Given the description of an element on the screen output the (x, y) to click on. 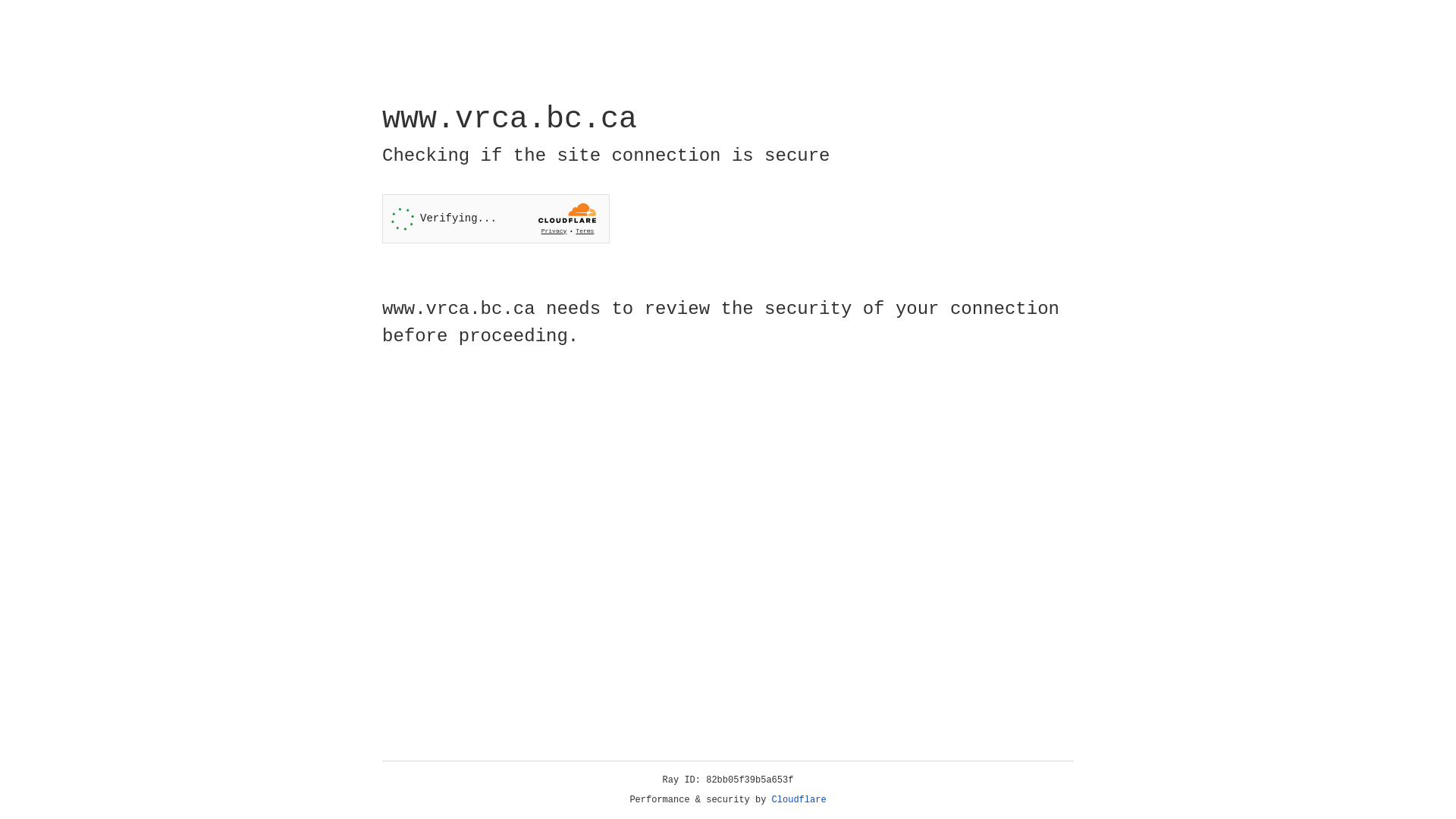
Cloudflare Element type: text (798, 799)
Widget containing a Cloudflare security challenge Element type: hover (495, 218)
